Given the description of an element on the screen output the (x, y) to click on. 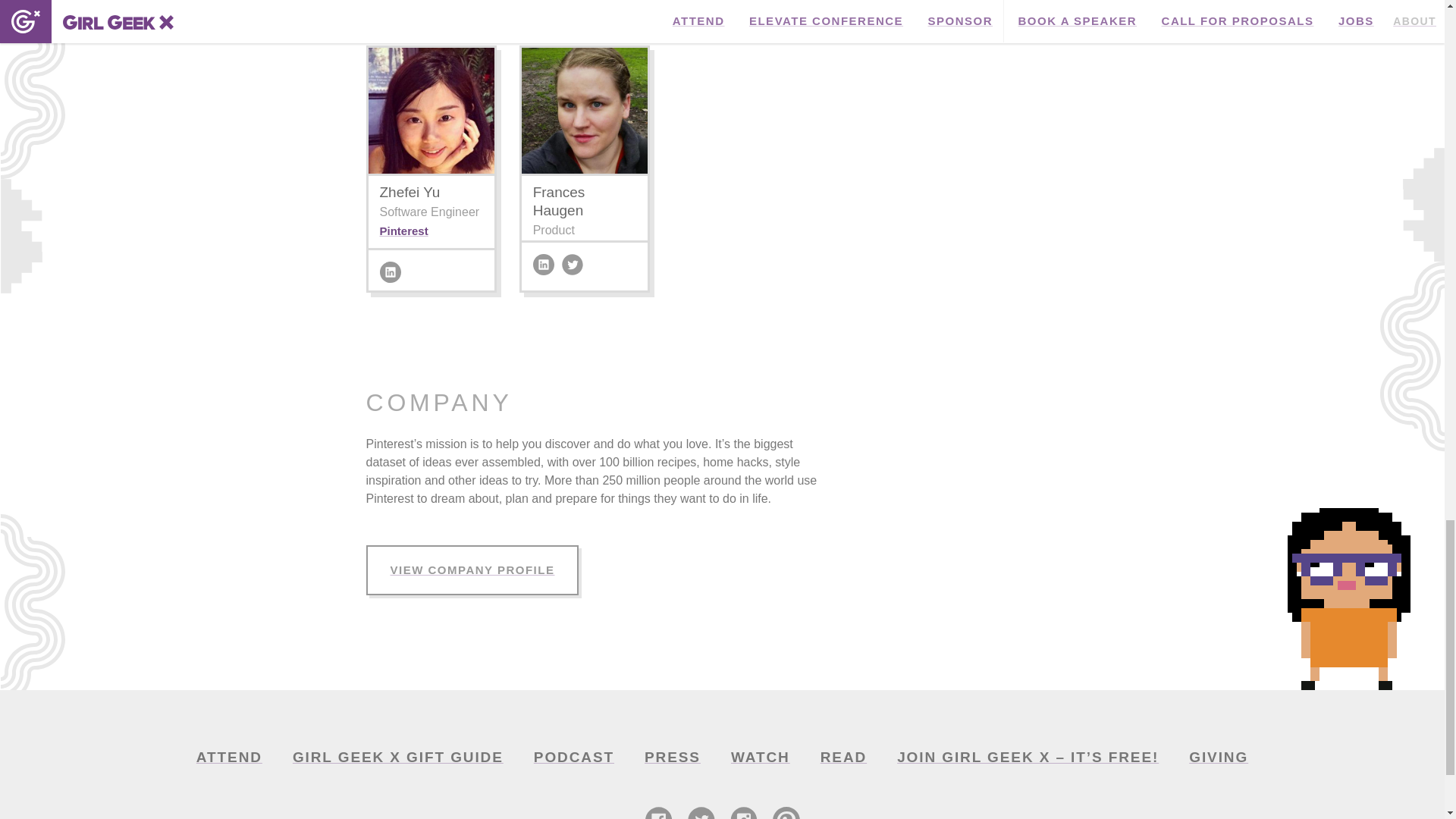
Pinterest (403, 230)
WATCH (760, 756)
GIRL GEEK X GIFT GUIDE (398, 756)
PODCAST (573, 756)
ATTEND (229, 756)
VIEW COMPANY PROFILE (471, 570)
PRESS (672, 756)
